Given the description of an element on the screen output the (x, y) to click on. 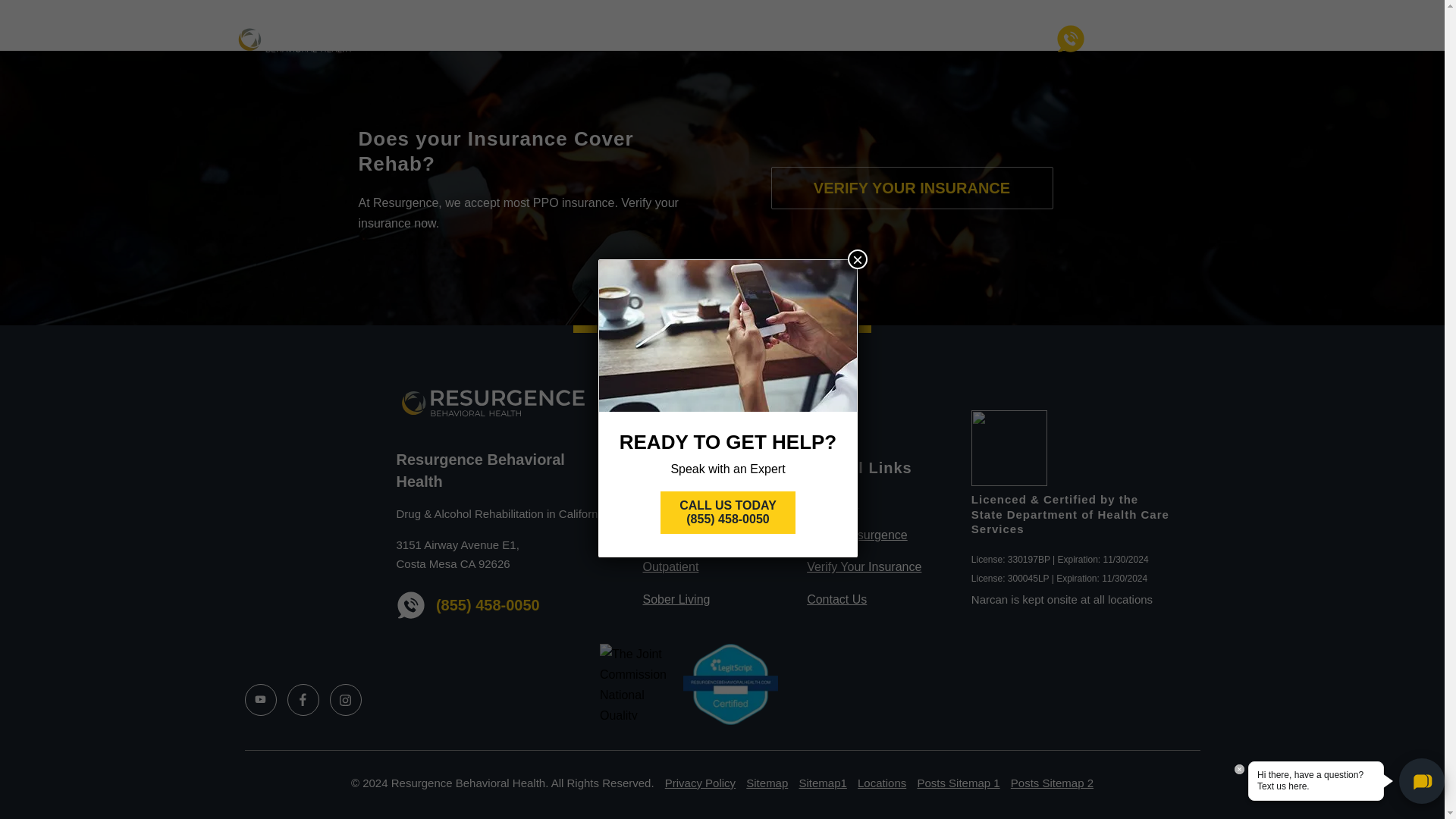
Instagram icon (344, 699)
